Given the description of an element on the screen output the (x, y) to click on. 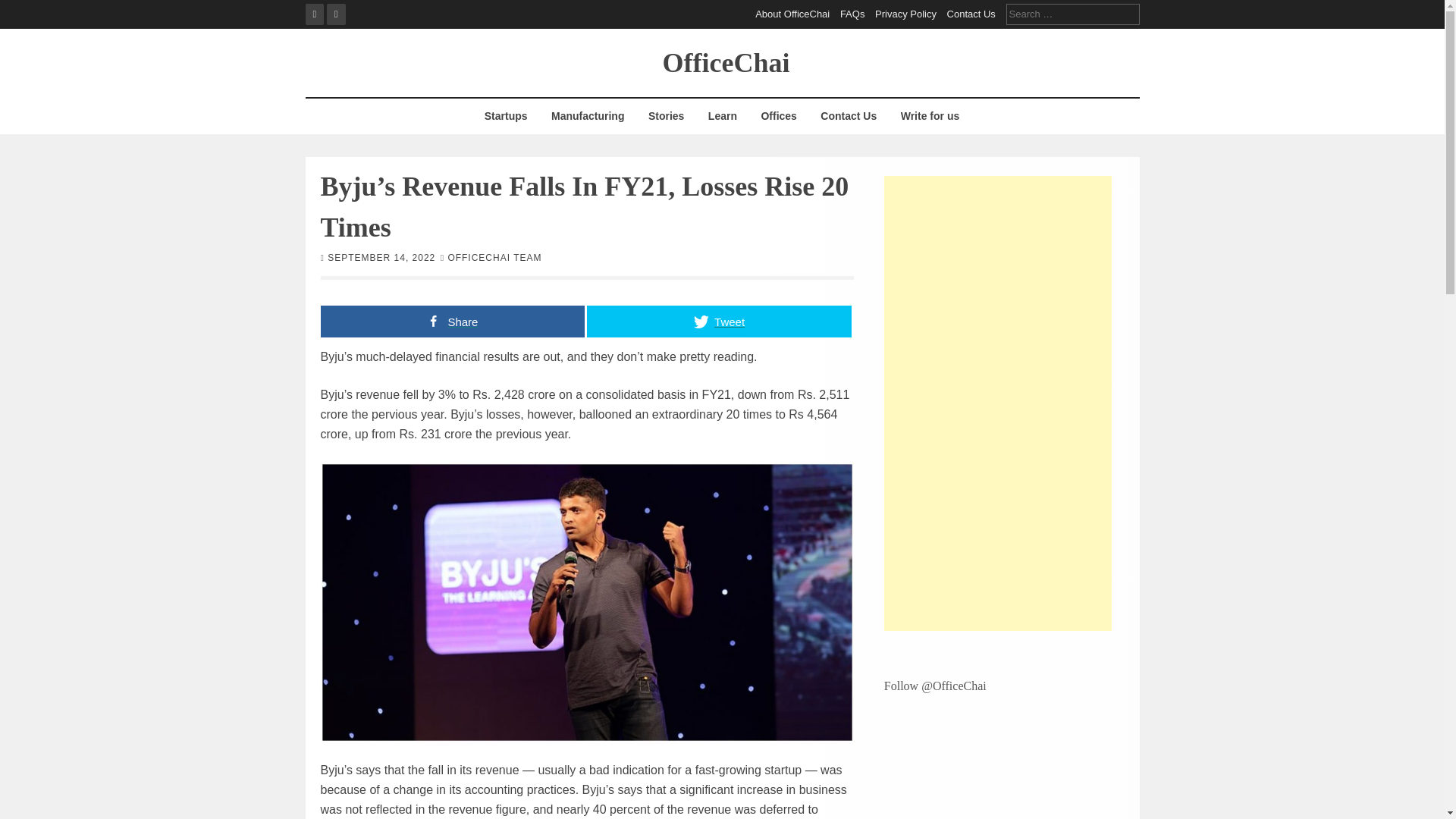
Startups (505, 116)
Stories (666, 116)
Contact Us (848, 116)
OFFICECHAI TEAM (493, 256)
Tweet (718, 320)
Manufacturing (587, 116)
OfficeChai (726, 61)
SEPTEMBER 14, 2022 (381, 256)
Write for us (930, 116)
Share (452, 320)
Offices (778, 116)
Search (23, 9)
Privacy Policy (905, 13)
FAQs (852, 13)
